Given the description of an element on the screen output the (x, y) to click on. 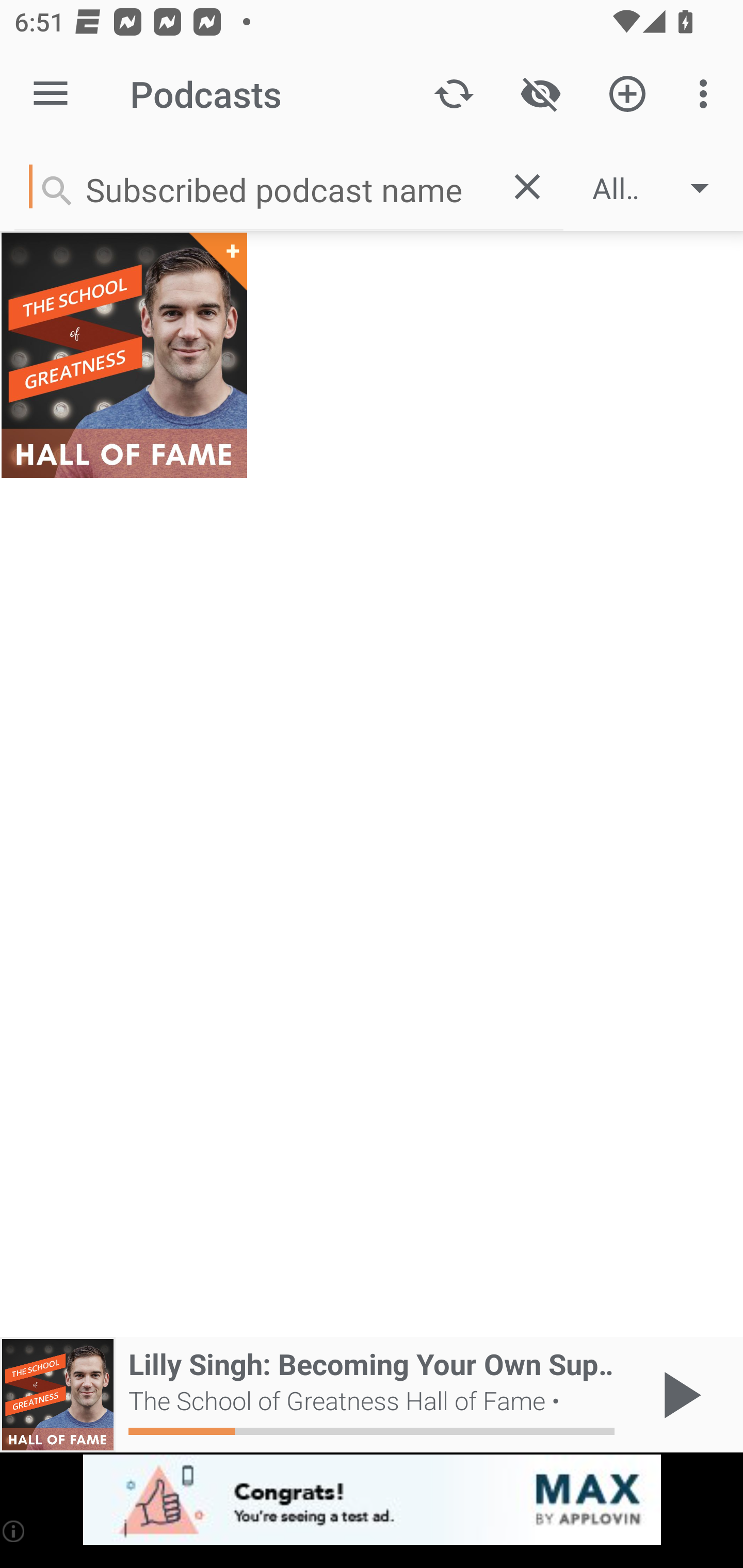
Open navigation sidebar (50, 93)
Update (453, 93)
Show / Hide played content (540, 93)
Add new Podcast (626, 93)
More options (706, 93)
Clear query (527, 186)
   Subscribed podcast name (252, 186)
All categories (1) (660, 188)
The School of Greatness Hall of Fame + (124, 355)
Play / Pause (677, 1394)
app-monetization (371, 1500)
(i) (14, 1531)
